Given the description of an element on the screen output the (x, y) to click on. 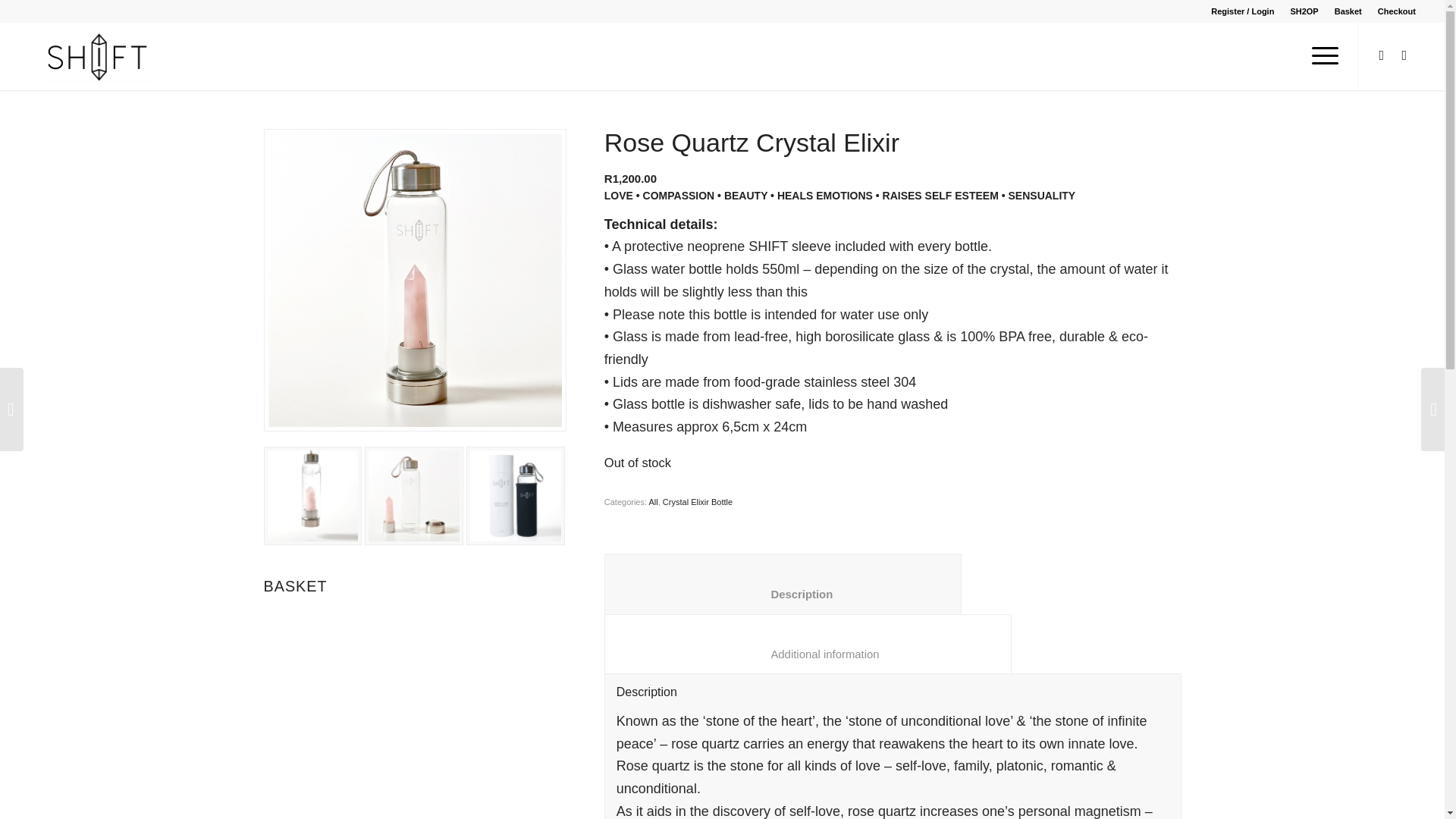
SH2OP (1303, 11)
      Description      (782, 583)
Instagram (1404, 55)
All (653, 501)
Basket (1348, 11)
      Description      (782, 583)
Checkout (1396, 11)
      Additional information      (807, 644)
Facebook (1381, 55)
      Additional information      (807, 644)
Crystal Elixir Bottle (697, 501)
